Given the description of an element on the screen output the (x, y) to click on. 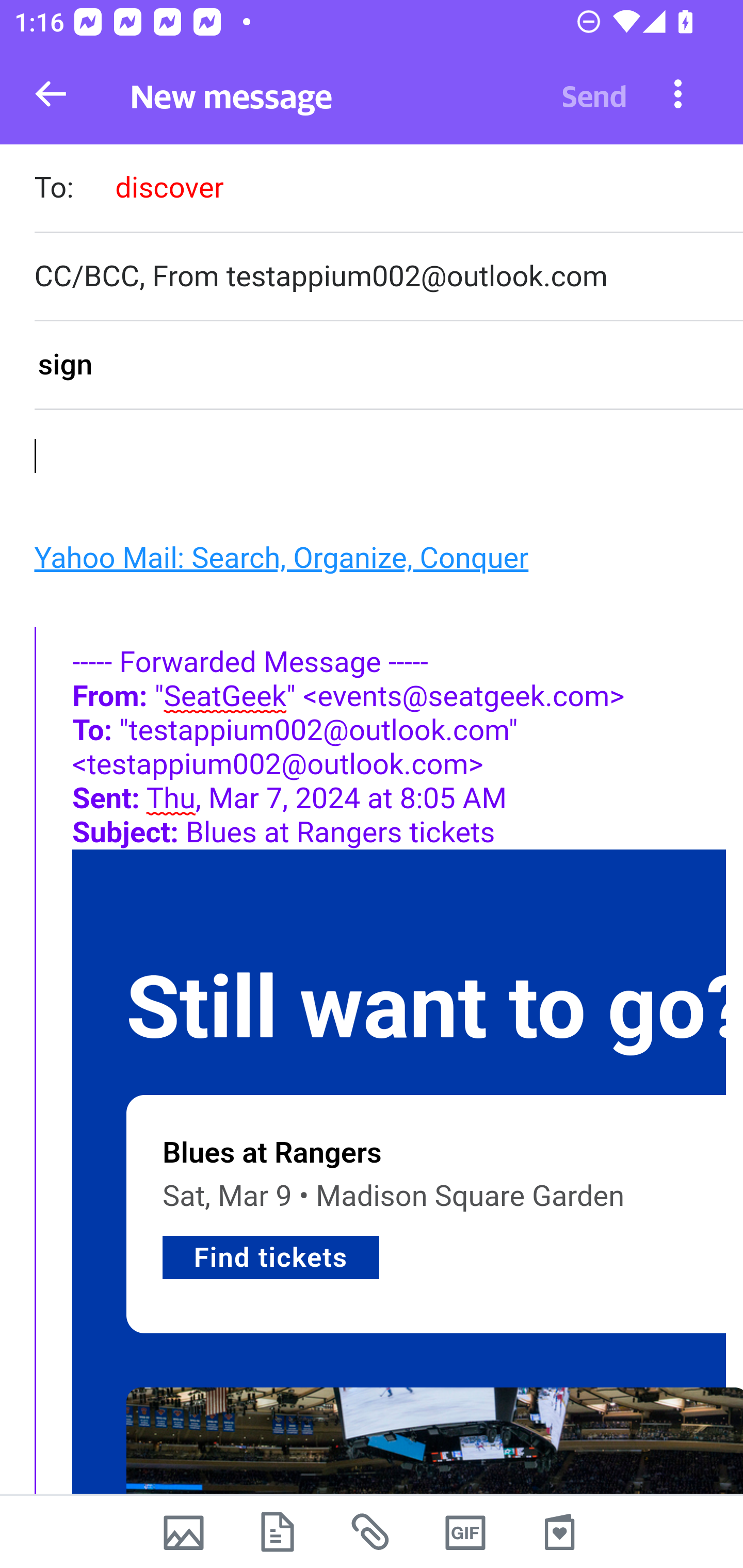
Back (50, 93)
Send (594, 93)
More options (677, 93)
To: discover (387, 189)
discover (169, 187)
CC/BCC, From testappium002@outlook.com (387, 276)
sign (387, 365)
Yahoo Mail: Search, Organize, Conquer (280, 557)
Still want to go? (434, 1007)
Blues at Rangers (272, 1151)
Find tickets (271, 1257)
Camera photos (183, 1531)
Device files (277, 1531)
Recent attachments from mail (371, 1531)
GIFs (465, 1531)
Stationery (559, 1531)
